Given the description of an element on the screen output the (x, y) to click on. 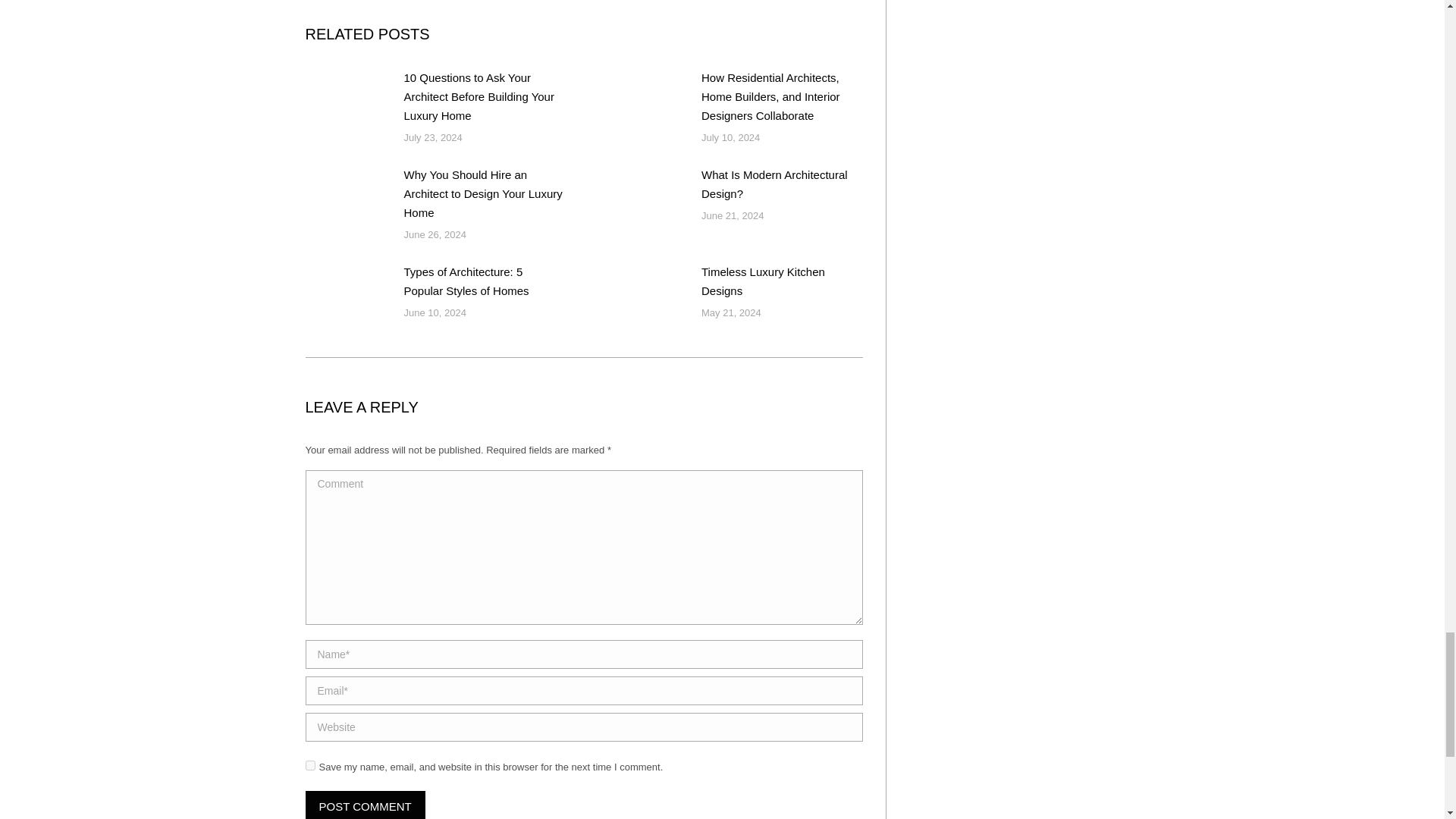
yes (309, 764)
